Given the description of an element on the screen output the (x, y) to click on. 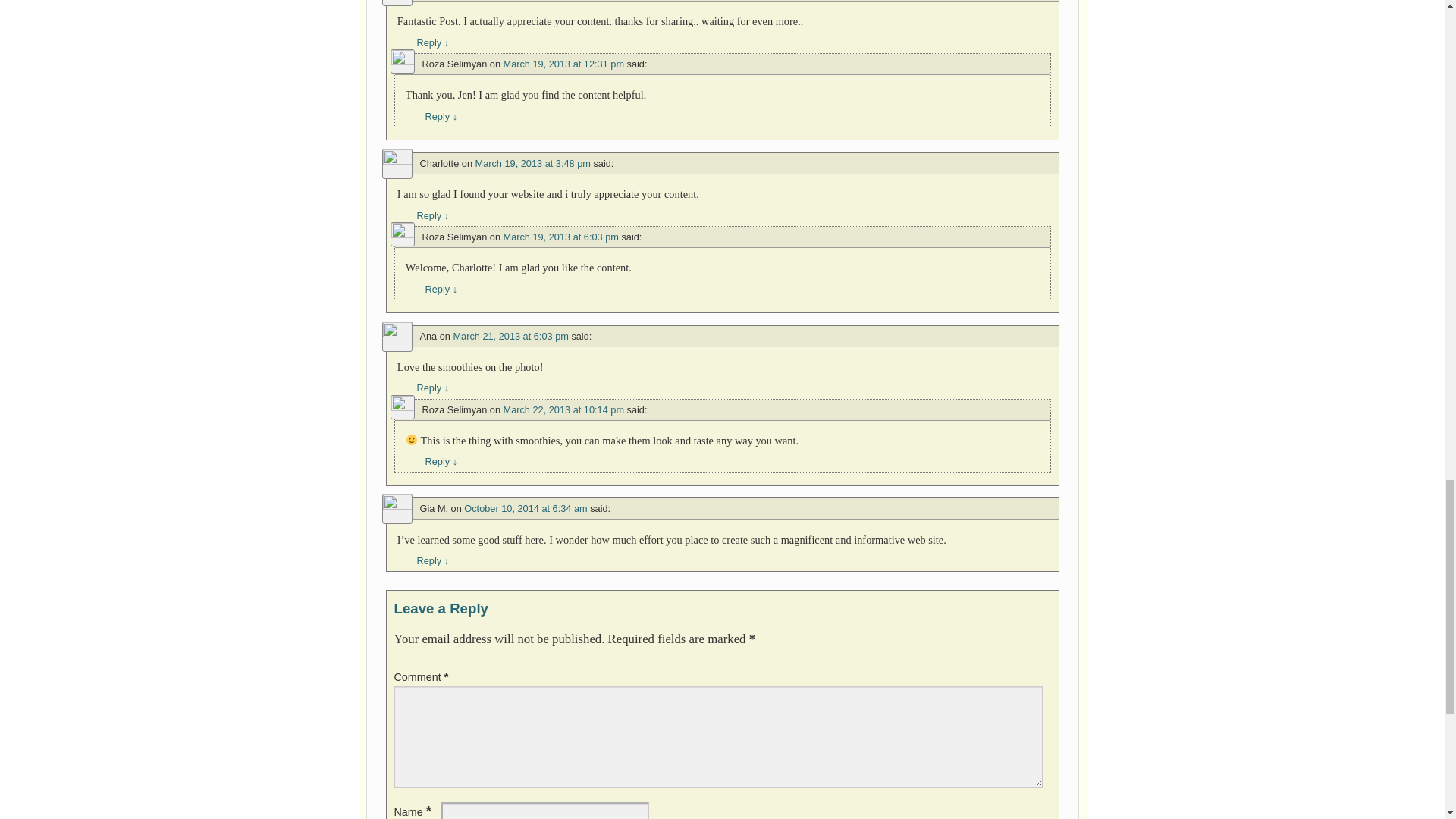
March 19, 2013 at 12:31 pm (563, 63)
March 21, 2013 at 6:03 pm (509, 336)
March 19, 2013 at 3:48 pm (533, 163)
March 19, 2013 at 6:03 pm (560, 236)
